Given the description of an element on the screen output the (x, y) to click on. 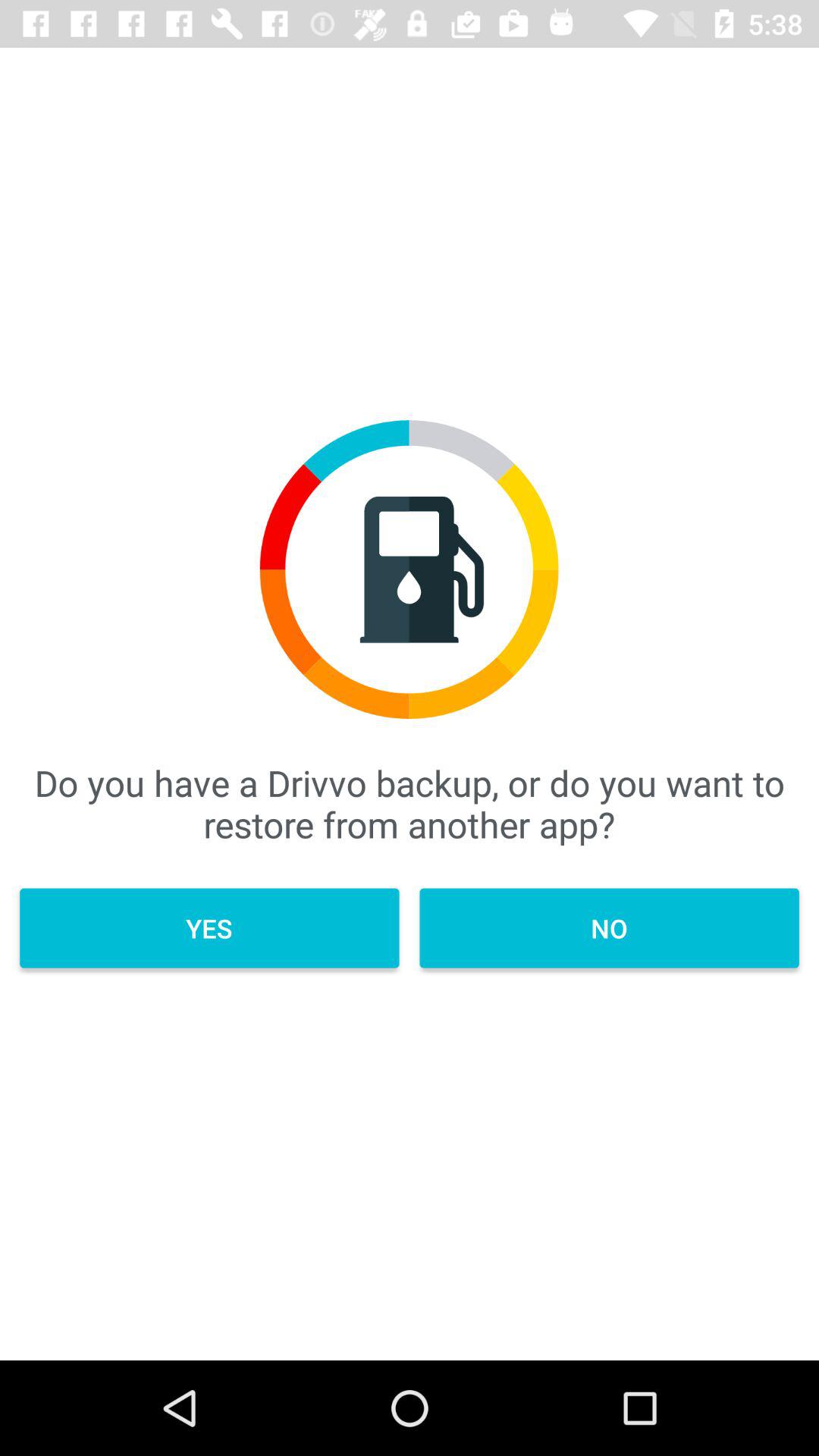
tap icon next to no icon (209, 928)
